Given the description of an element on the screen output the (x, y) to click on. 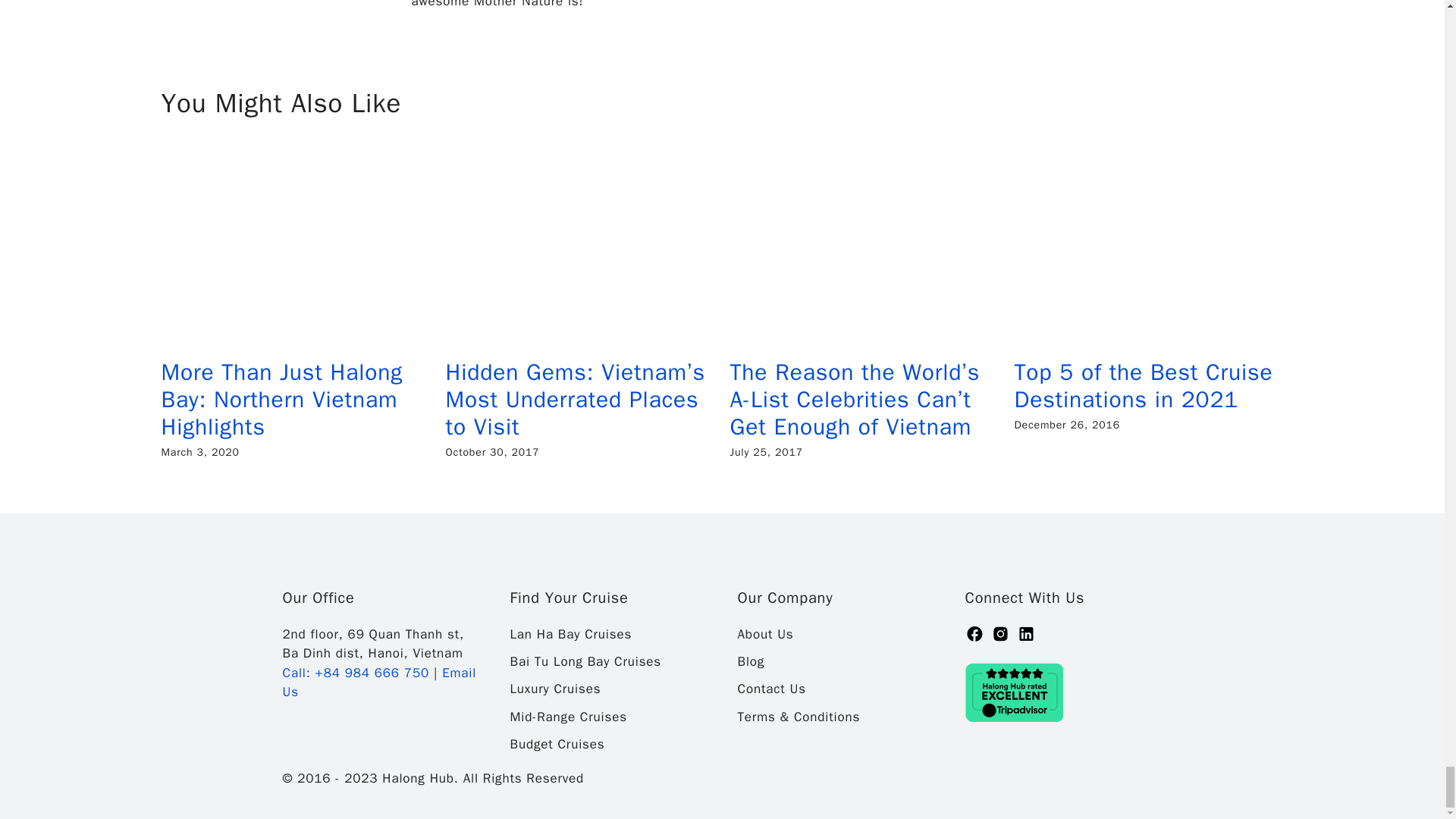
HLH-logo (357, 556)
